Given the description of an element on the screen output the (x, y) to click on. 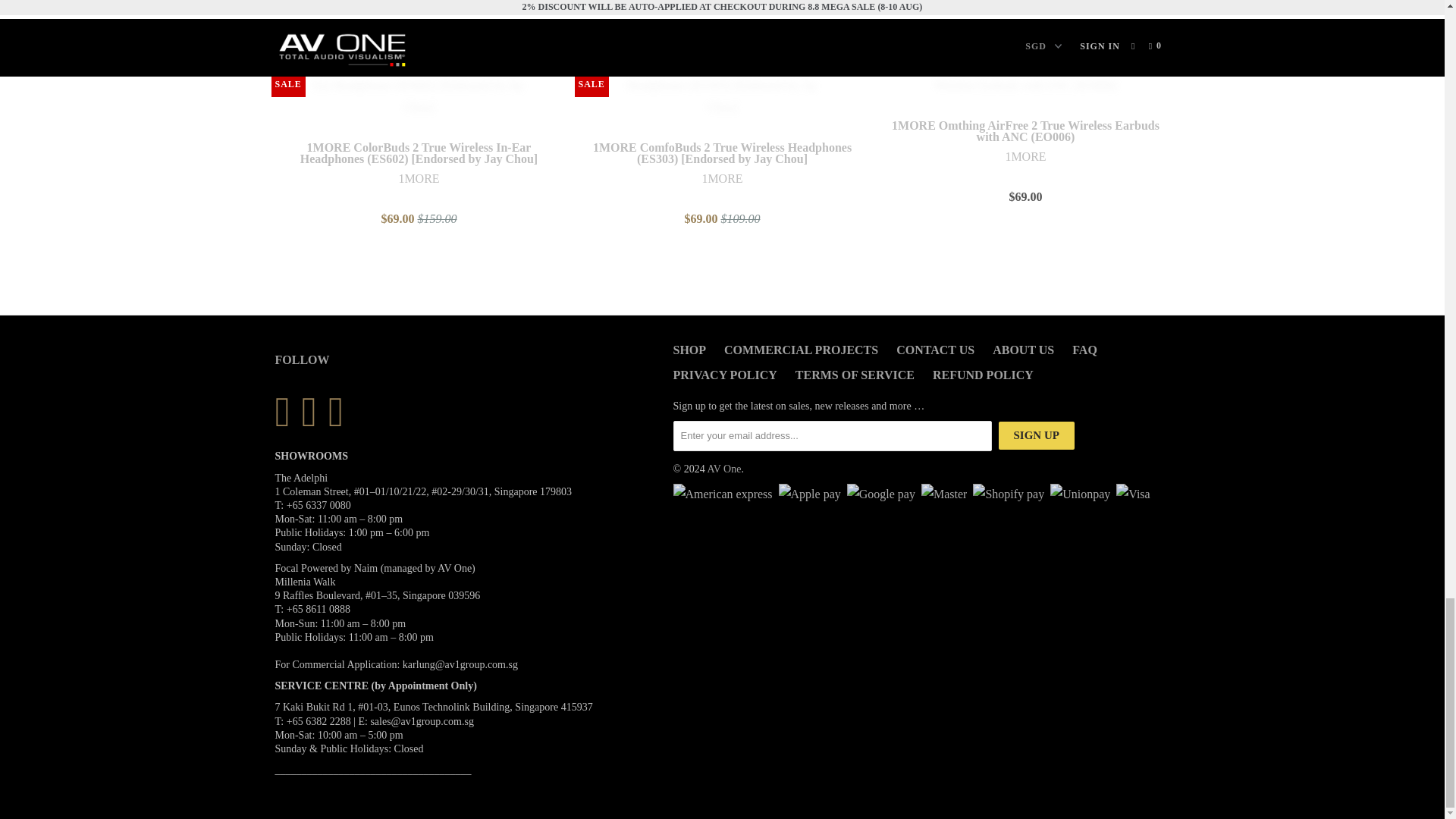
Sign Up (1035, 435)
